Given the description of an element on the screen output the (x, y) to click on. 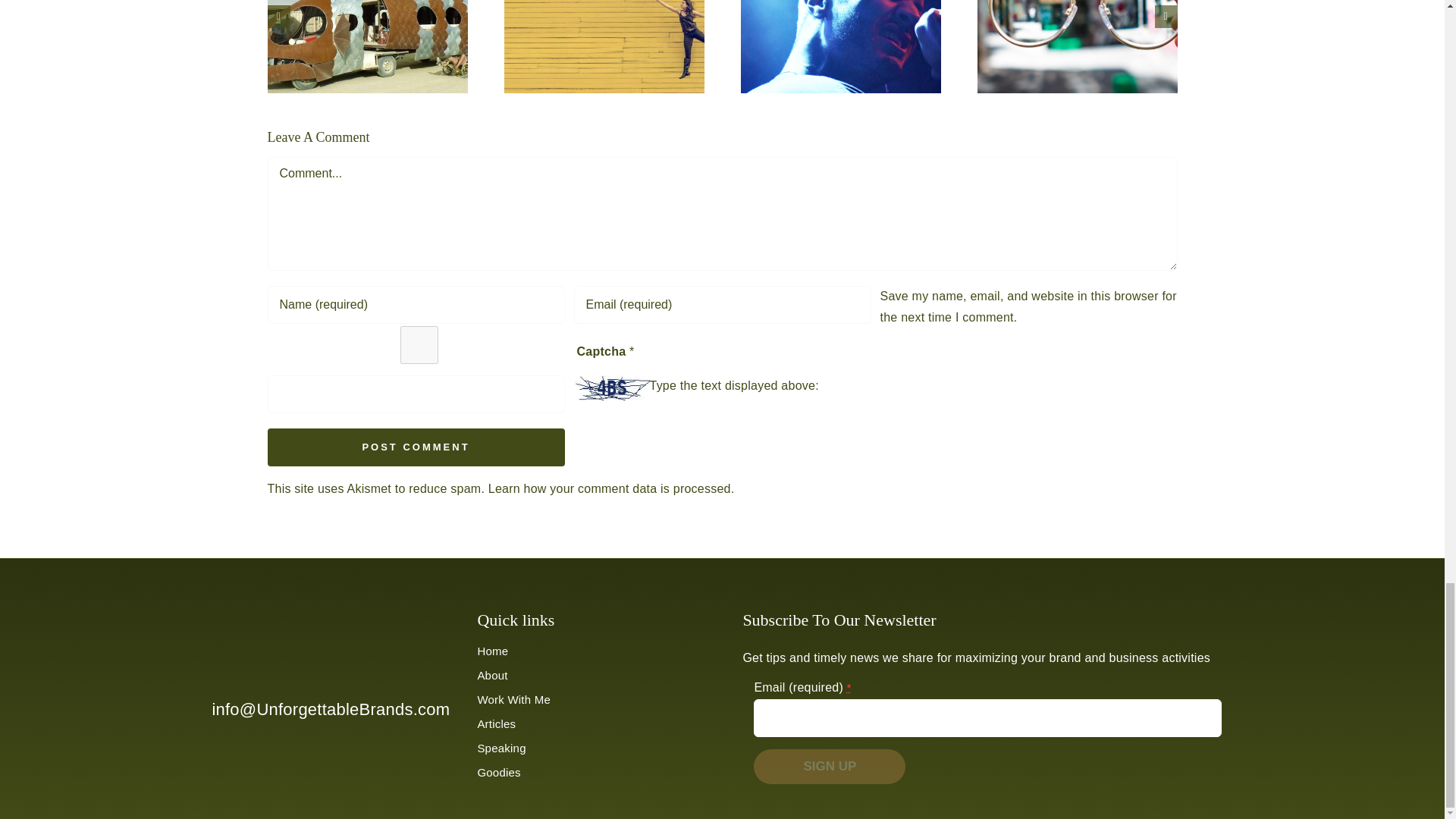
yes (418, 344)
Post Comment (415, 447)
Sign up (829, 766)
